Given the description of an element on the screen output the (x, y) to click on. 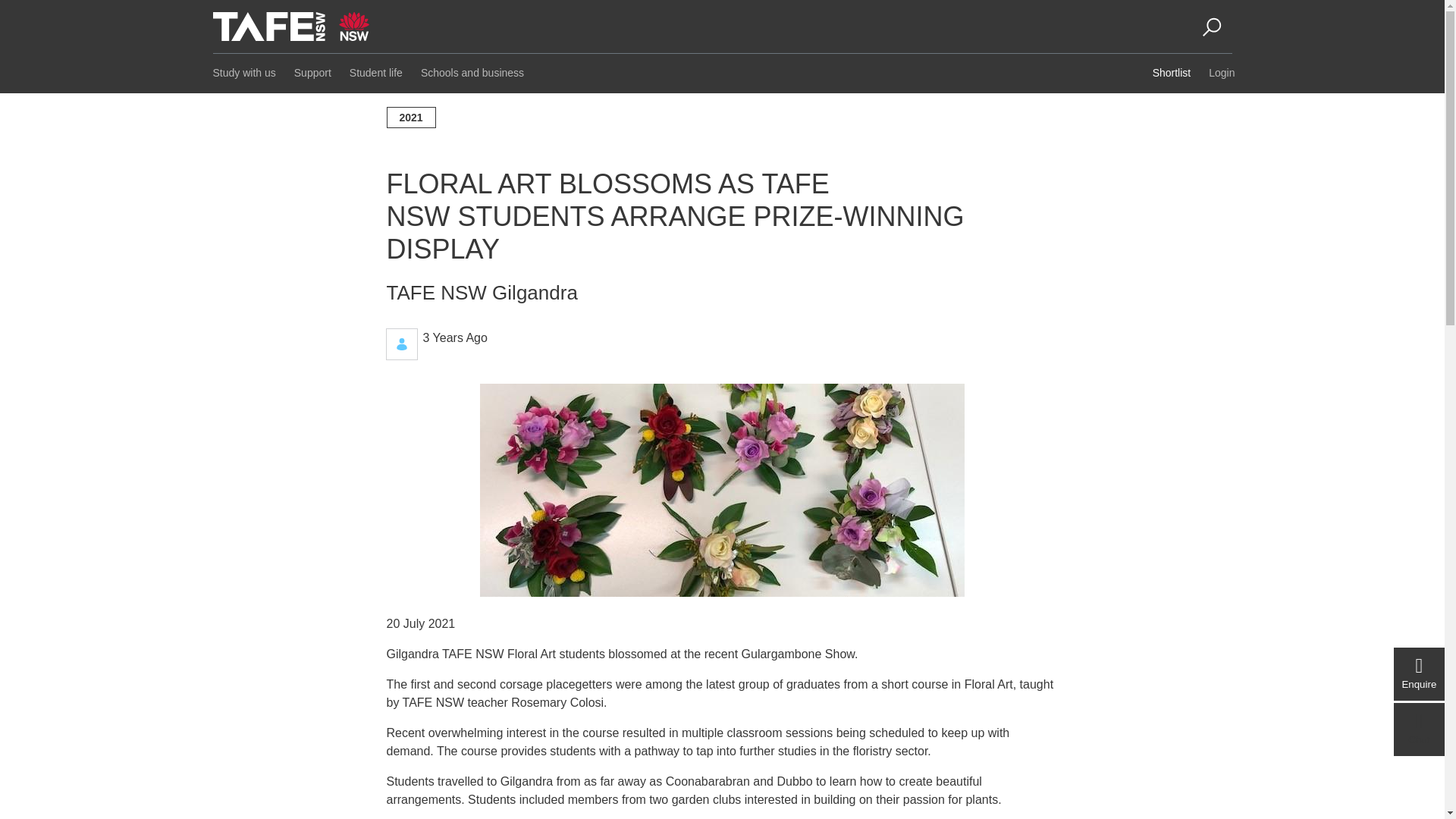
Study with us (241, 73)
